Given the description of an element on the screen output the (x, y) to click on. 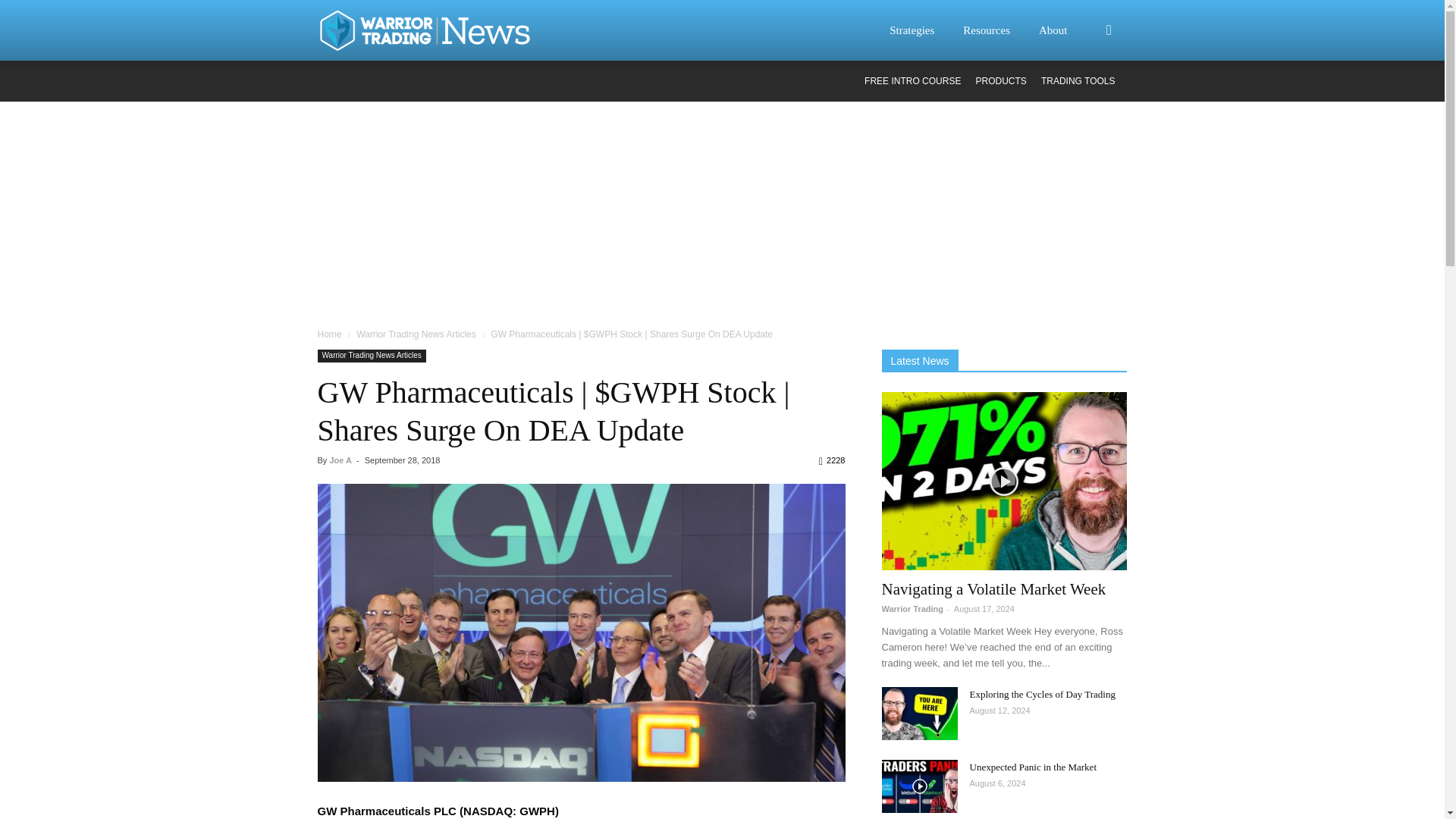
View all posts in Warrior Trading News Articles (416, 334)
PRODUCTS (1000, 81)
Strategies (920, 30)
Resources (995, 30)
About (1061, 30)
Navigating a Volatile Market Week (1003, 481)
FREE INTRO COURSE (912, 81)
